Given the description of an element on the screen output the (x, y) to click on. 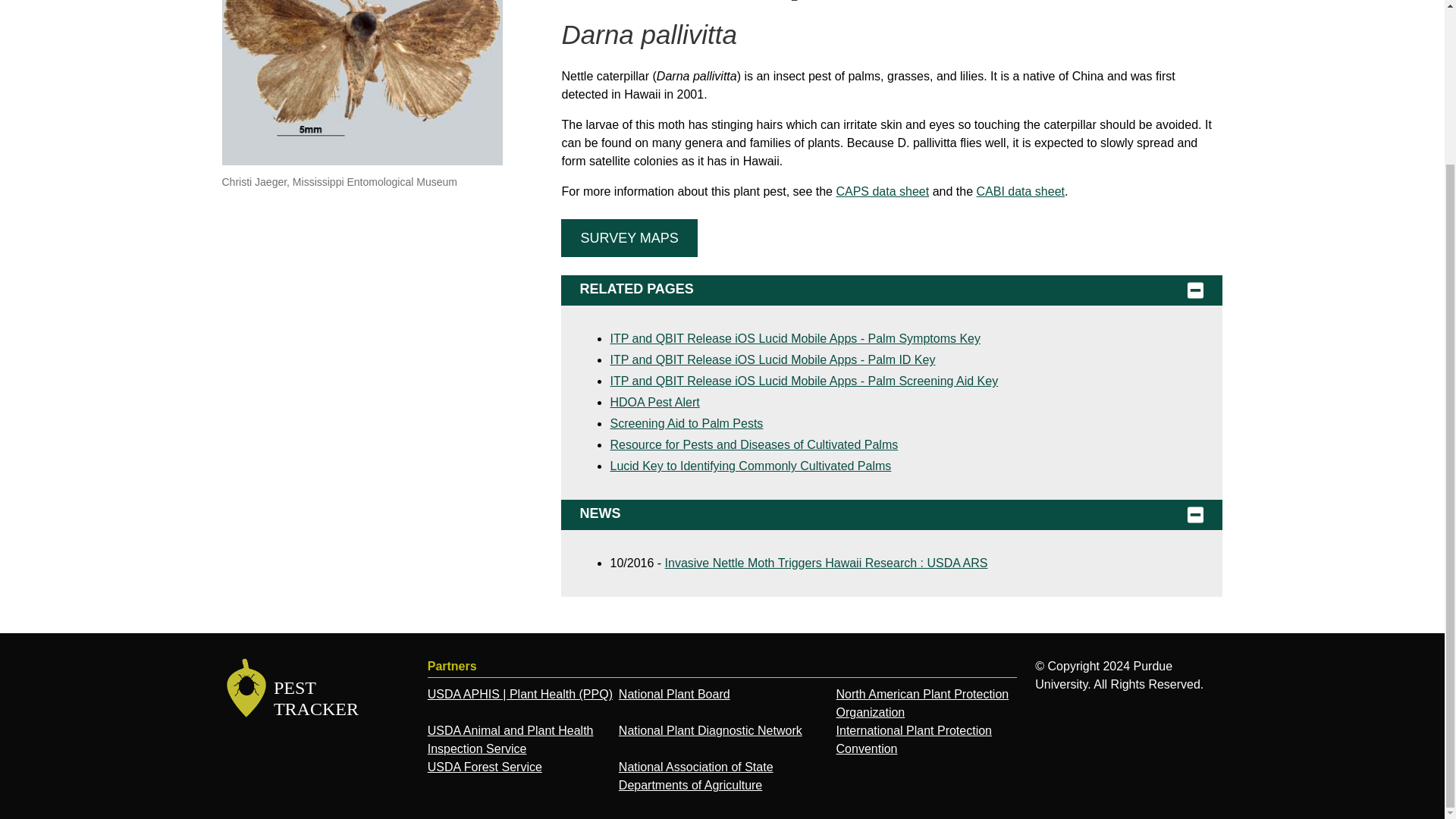
National Association of State Departments of Agriculture (695, 775)
NEWS (891, 514)
CAPS data sheet (881, 191)
Resource for Pests and Diseases of Cultivated Palms (754, 444)
SURVEY MAPS (628, 238)
CABI data sheet (1019, 191)
USDA Animal and Plant Health Inspection Service (511, 739)
Screening Aid to Palm Pests (686, 422)
National Plant Diagnostic Network (710, 730)
